Given the description of an element on the screen output the (x, y) to click on. 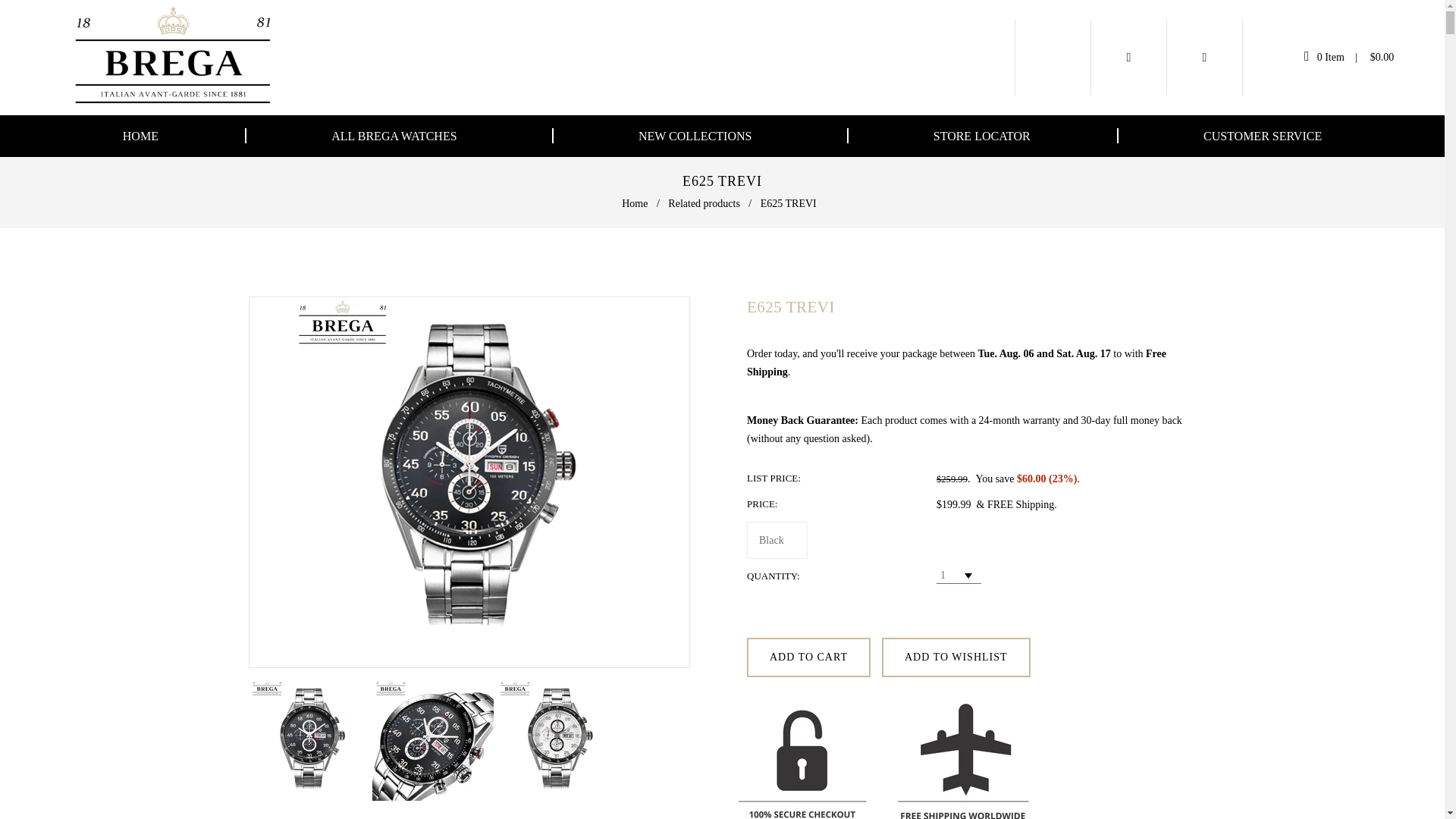
HOME (140, 136)
Back to the frontpage (635, 203)
Add to wishlist (956, 657)
ALL BREGA WATCHES (397, 136)
